Given the description of an element on the screen output the (x, y) to click on. 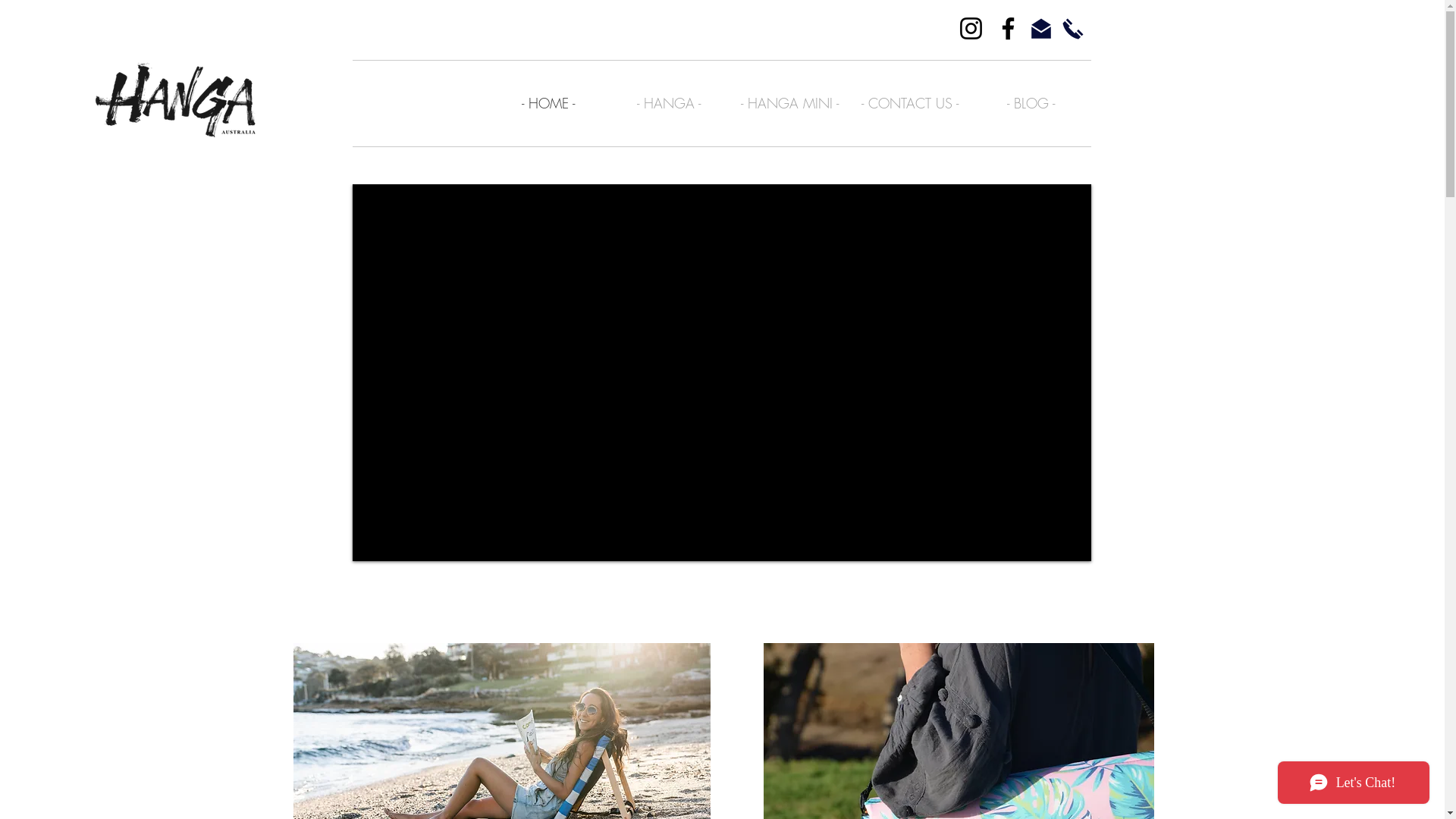
- HANGA - Element type: text (668, 103)
Online Store Element type: hover (1404, 40)
- HANGA MINI - Element type: text (789, 103)
- CONTACT US - Element type: text (909, 103)
- HOME - Element type: text (548, 103)
- BLOG - Element type: text (1030, 103)
